Given the description of an element on the screen output the (x, y) to click on. 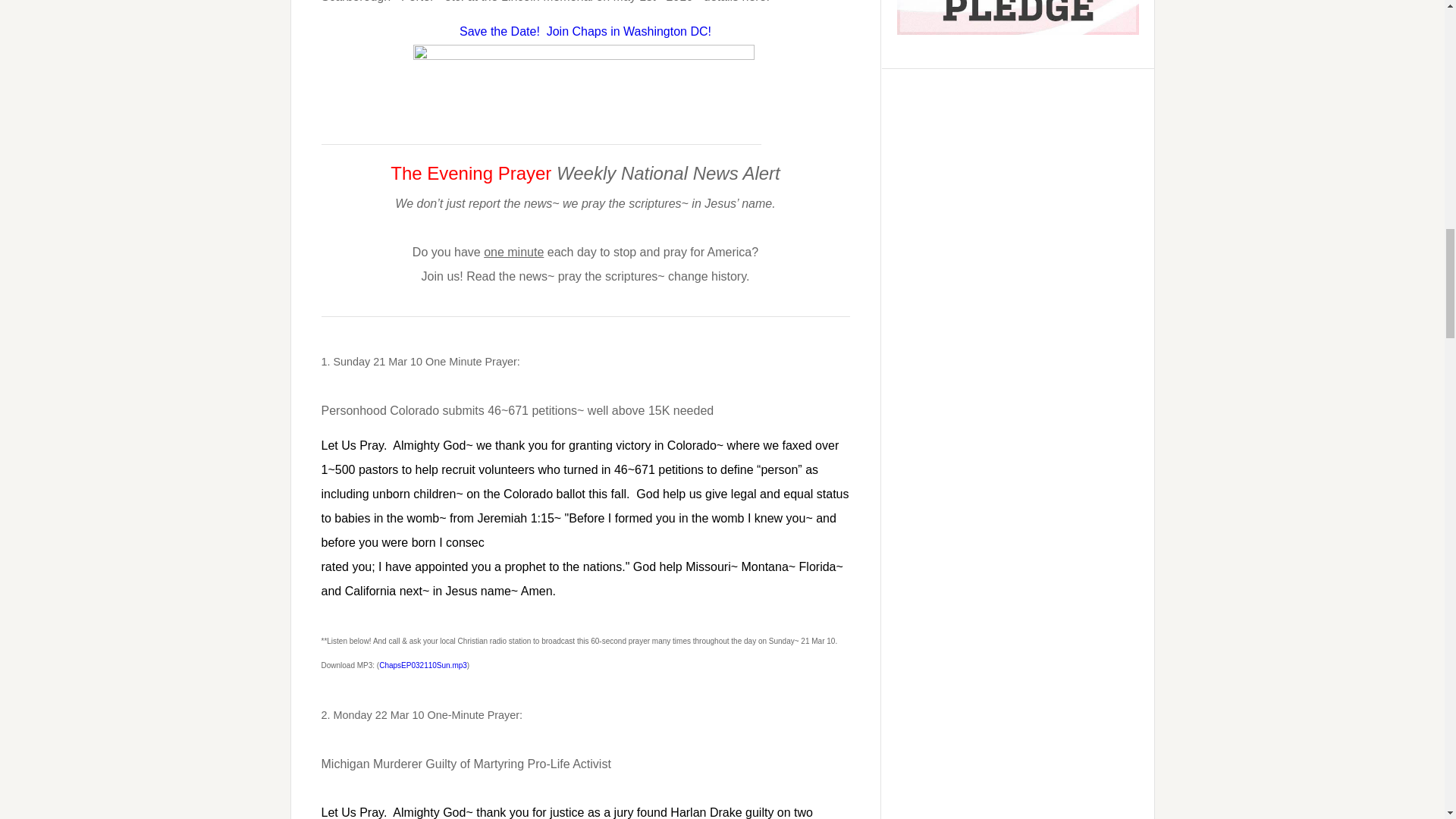
ChapsEP032110Sun.mp3 (422, 664)
Save the Date!  Join Chaps in Washington DC! (585, 30)
